Given the description of an element on the screen output the (x, y) to click on. 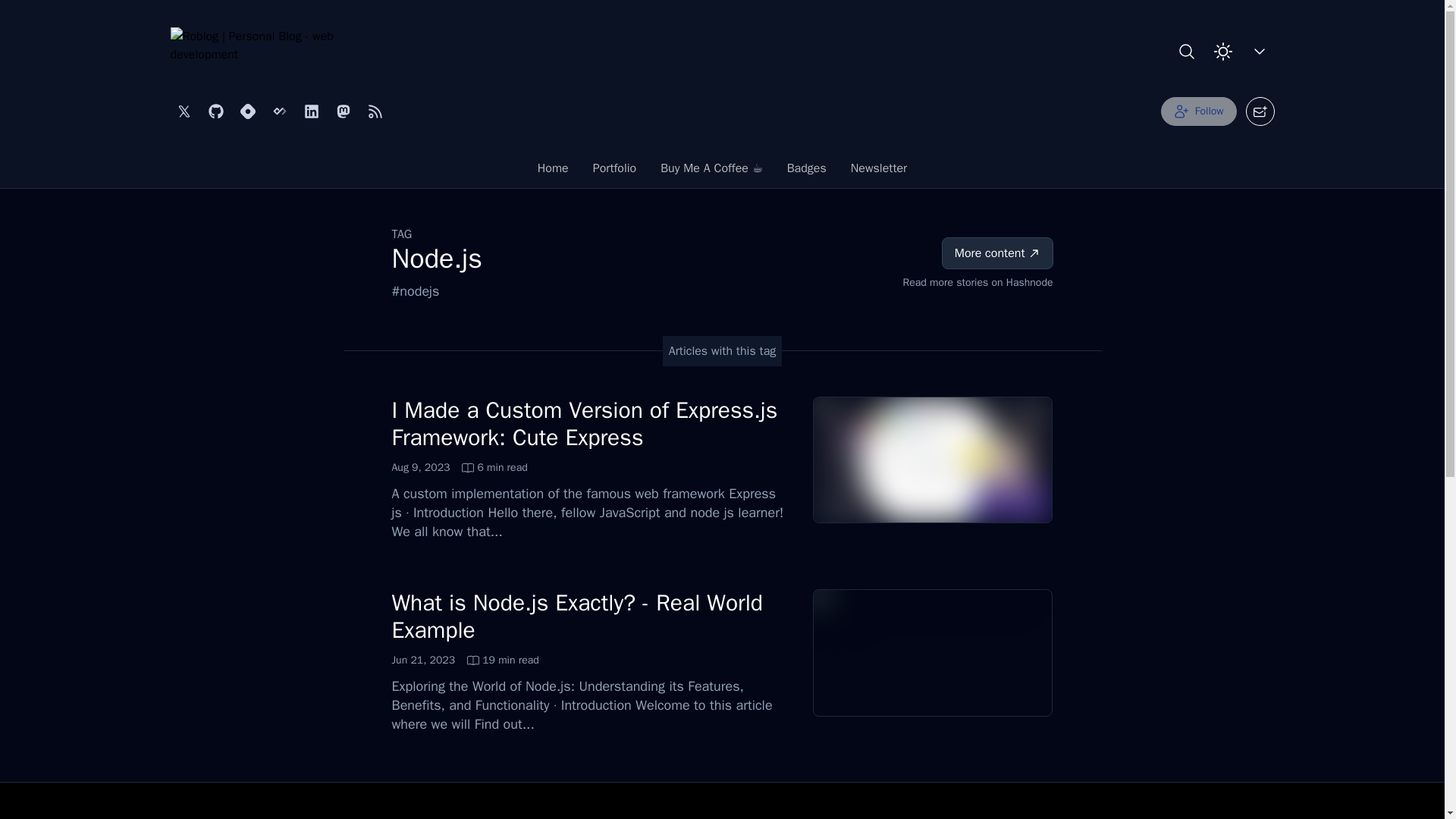
More content (997, 252)
Portfolio (614, 172)
Home (464, 660)
Badges (552, 172)
What is Node.js Exactly? - Real World Example (806, 172)
Newsletter (576, 616)
Follow (878, 172)
